Given the description of an element on the screen output the (x, y) to click on. 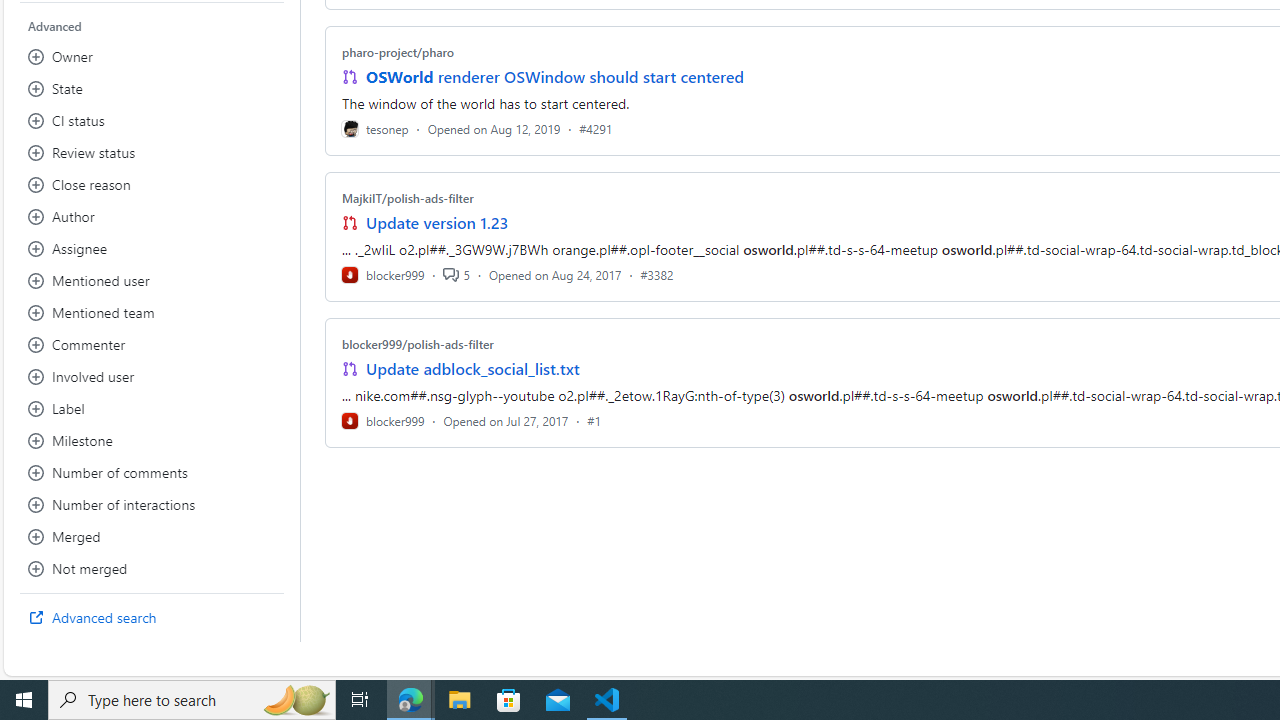
Update version 1.23 (437, 222)
#3382 (657, 273)
Update adblock_social_list.txt (472, 368)
5 (455, 273)
pharo-project/pharo (397, 52)
blocker999/polish-ads-filter (417, 343)
